Given the description of an element on the screen output the (x, y) to click on. 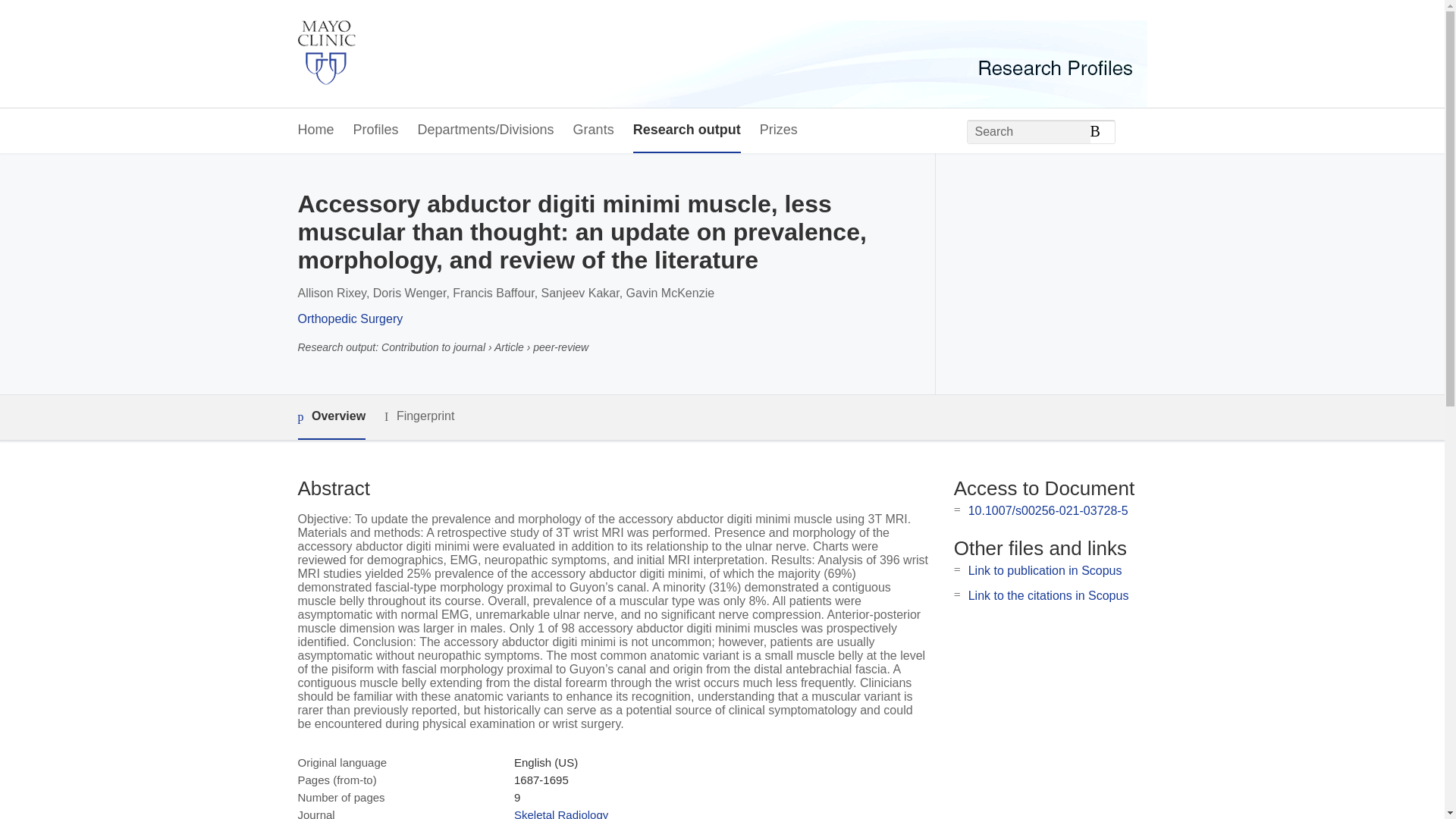
Mayo Clinic Home (326, 53)
Overview (331, 416)
Skeletal Radiology (560, 813)
Fingerprint (419, 416)
Home (315, 130)
Link to the citations in Scopus (1048, 594)
Orthopedic Surgery (350, 318)
Grants (593, 130)
Link to publication in Scopus (1045, 570)
Profiles (375, 130)
Research output (687, 130)
Prizes (778, 130)
